Given the description of an element on the screen output the (x, y) to click on. 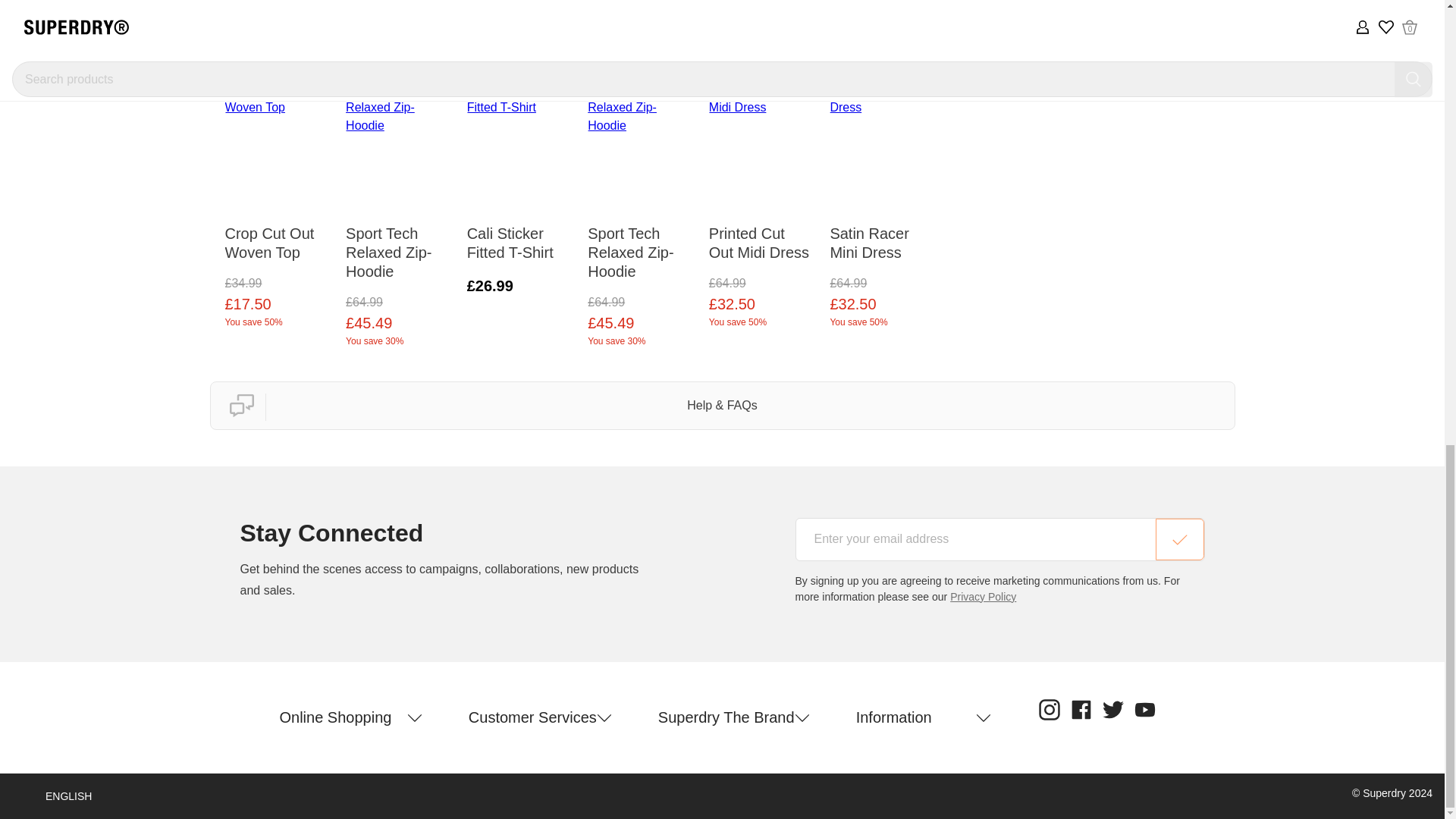
Cali Sticker Fitted T-Shirt (520, 235)
Sport Tech Relaxed Zip-Hoodie (398, 245)
Sport Tech Relaxed Zip-Hoodie (641, 245)
Crop Cut Out Woven Top (277, 235)
